Given the description of an element on the screen output the (x, y) to click on. 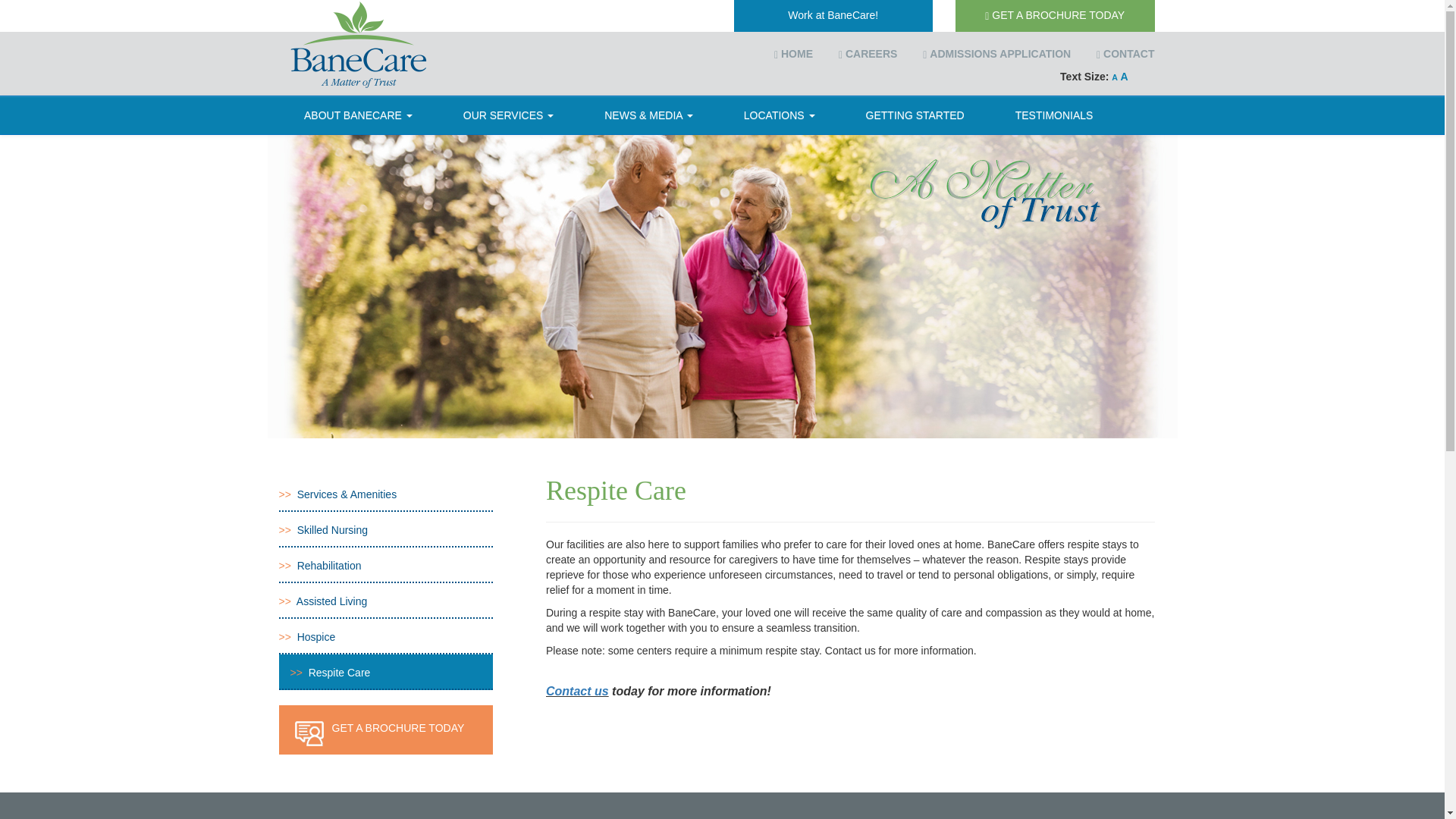
ABOUT BANECARE (358, 115)
CAREERS (870, 53)
LOCATIONS (778, 115)
OUR SERVICES (508, 115)
TESTIMONIALS (1054, 115)
CONTACT (1127, 53)
GET A BROCHURE TODAY (1054, 15)
ADMISSIONS APPLICATION (1000, 53)
HOME (794, 53)
GETTING STARTED (915, 115)
Work at BaneCare! (833, 15)
